Given the description of an element on the screen output the (x, y) to click on. 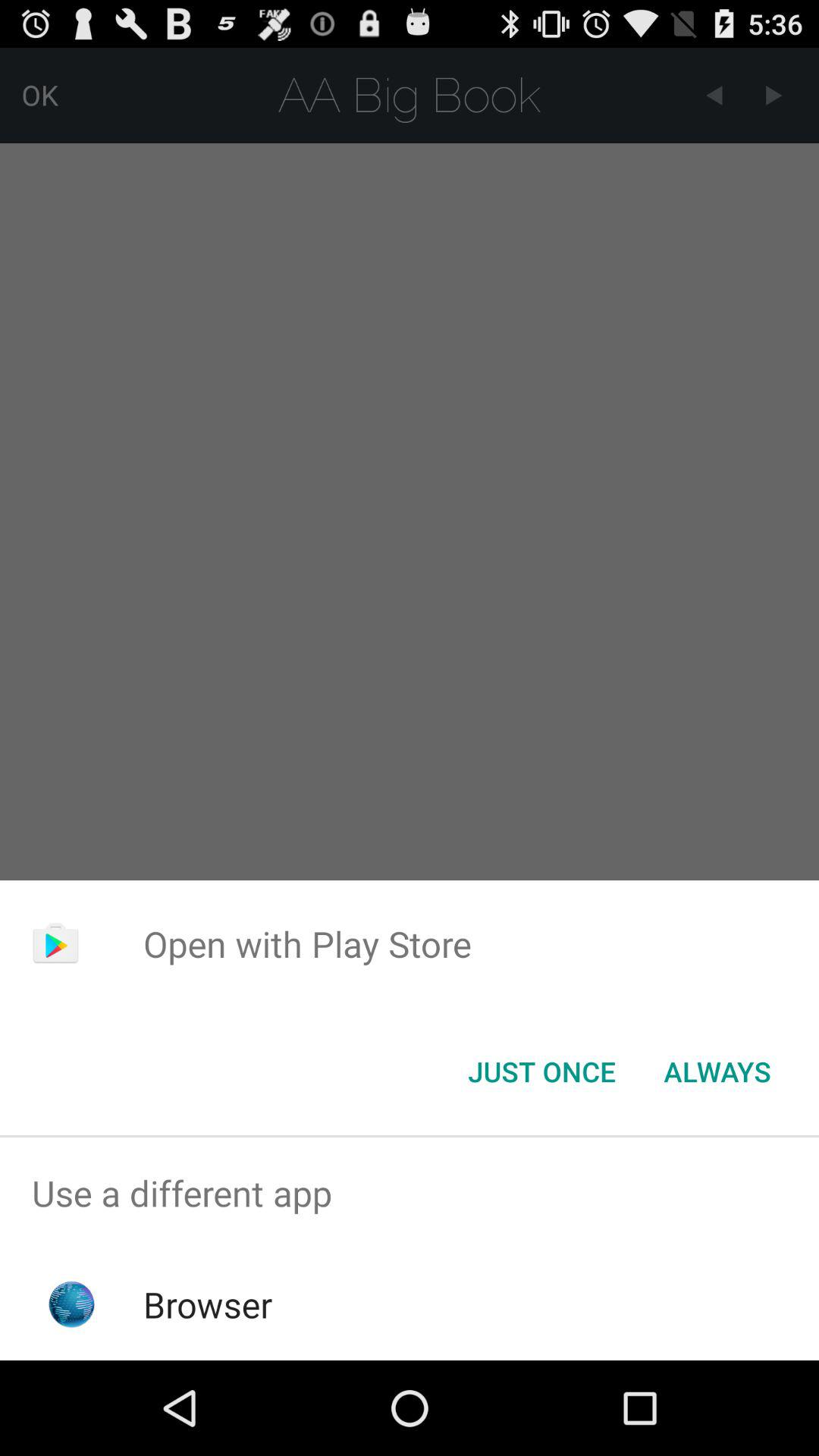
turn on icon below use a different item (207, 1304)
